Given the description of an element on the screen output the (x, y) to click on. 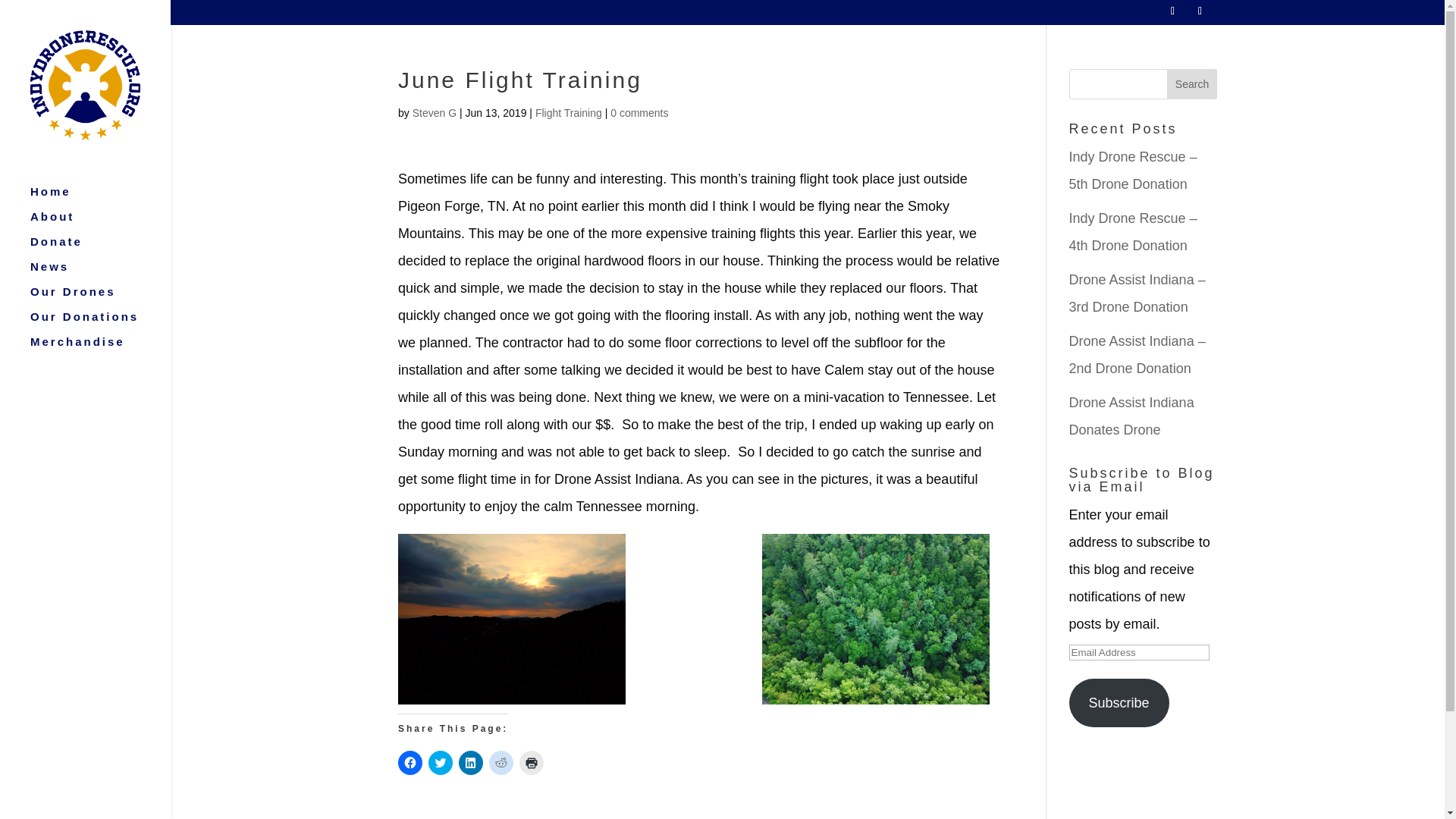
Merchandise (100, 348)
Click to print (531, 762)
Search (1192, 82)
News (100, 273)
About (100, 223)
0 comments (639, 111)
Click to share on Reddit (501, 762)
Click to share on Twitter (440, 762)
Search (1192, 82)
Posts by Steven G (434, 111)
